Given the description of an element on the screen output the (x, y) to click on. 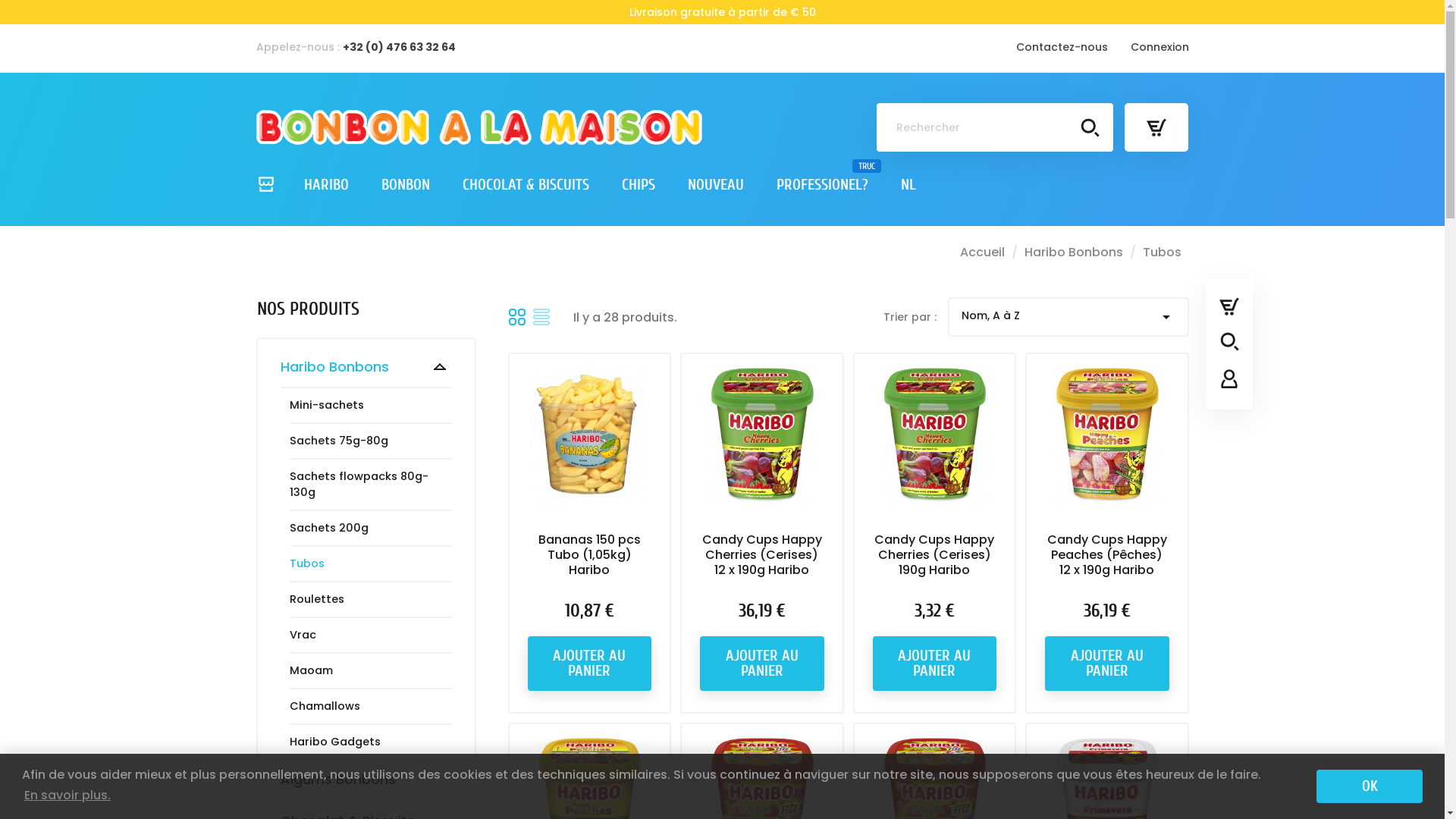
Algums Bonbons Element type: text (365, 779)
NOUVEAU Element type: text (714, 184)
Accueil Element type: text (983, 251)
Roulettes Element type: text (316, 599)
Mini-sachets Element type: text (326, 405)
PROFESSIONEL?
TRUC Element type: text (821, 184)
OK Element type: text (1369, 786)
Maoam Element type: text (310, 670)
AJOUTER AU PANIER Element type: text (589, 663)
Haribo Bonbons Element type: text (365, 367)
Connexion Element type: text (1158, 46)
CHOCOLAT & BISCUITS Element type: text (525, 184)
AJOUTER AU PANIER Element type: text (761, 663)
Sachets flowpacks 80g-130g Element type: text (370, 484)
CHIPS Element type: text (638, 184)
Contactez-nous Element type: text (1061, 46)
Vrac Element type: text (302, 635)
BONBON Element type: text (404, 184)
HARIBO Element type: text (325, 184)
Tubos Element type: text (306, 563)
Candy Cups Happy Cherries (Cerises) 12 x 190g Haribo Element type: text (762, 554)
Candy Cups Happy Cherries (Cerises) 190g Haribo Element type: text (934, 554)
Haribo Bonbons Element type: text (1074, 251)
Sachets 75g-80g Element type: text (338, 440)
NOS PRODUITS Element type: text (307, 308)
NL Element type: text (908, 184)
Bananas 150 pcs Tubo (1,05kg) Haribo Element type: text (589, 554)
Haribo Gadgets Element type: text (334, 741)
AJOUTER AU PANIER Element type: text (934, 663)
En savoir plus. Element type: text (66, 795)
Chamallows Element type: text (324, 706)
Sachets 200g Element type: text (328, 528)
AJOUTER AU PANIER Element type: text (1106, 663)
